Given the description of an element on the screen output the (x, y) to click on. 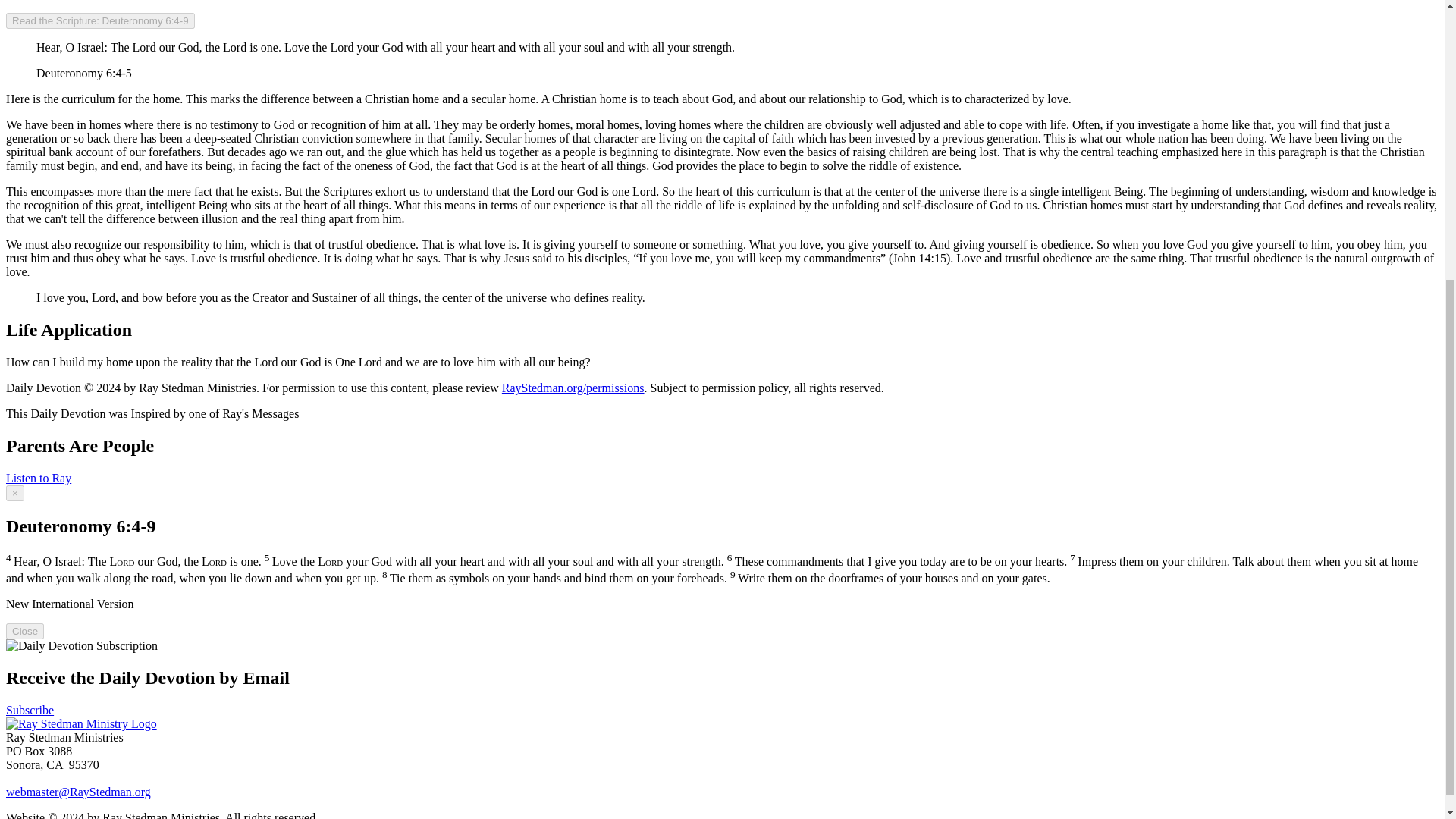
Listen to Ray (38, 477)
Close (24, 631)
Subscribe (29, 709)
Read the Scripture: Deuteronomy 6:4-9 (100, 20)
Home (81, 723)
